Given the description of an element on the screen output the (x, y) to click on. 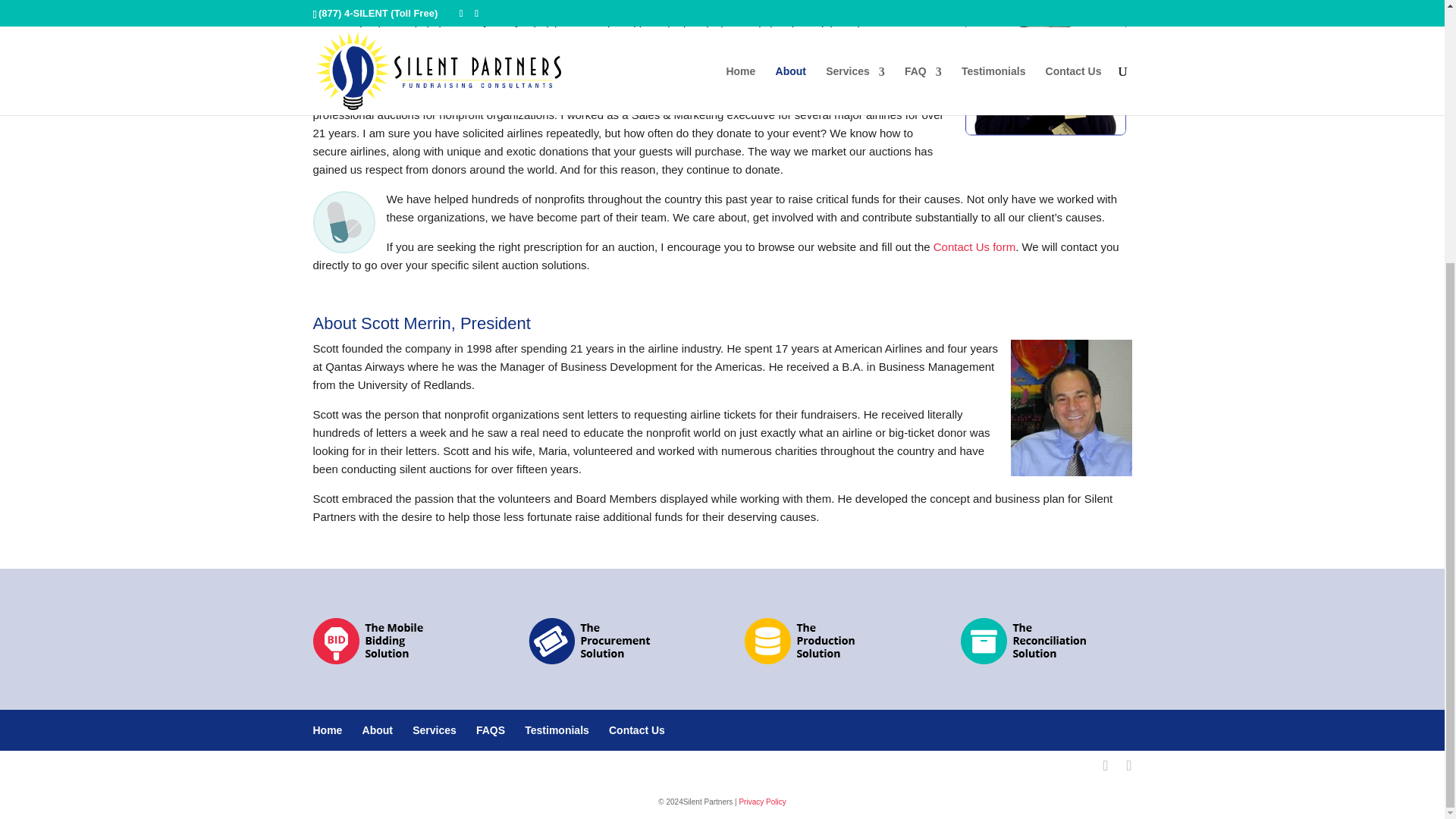
testimonials (747, 96)
Contact Us form (973, 246)
